Given the description of an element on the screen output the (x, y) to click on. 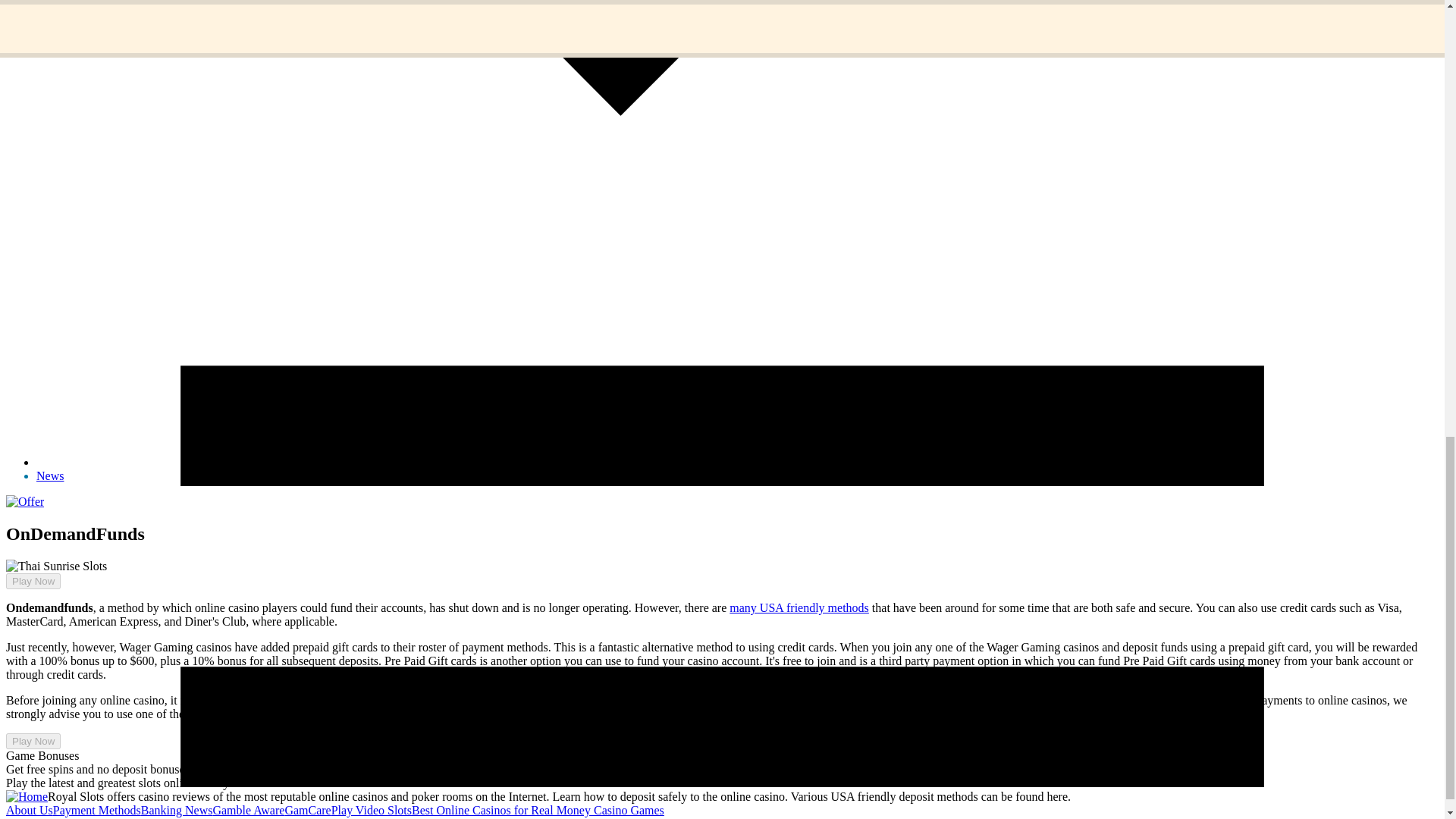
Gamble Aware (247, 809)
Play Now (33, 741)
About Us (28, 809)
Banking News (176, 809)
GamCare (306, 809)
Best Online Casinos for Real Money Casino Games (537, 809)
Play Video Slots (371, 809)
News (50, 475)
Payment Methods (96, 809)
many USA friendly methods (799, 607)
Play Now (27, 593)
Play Now (33, 580)
